Given the description of an element on the screen output the (x, y) to click on. 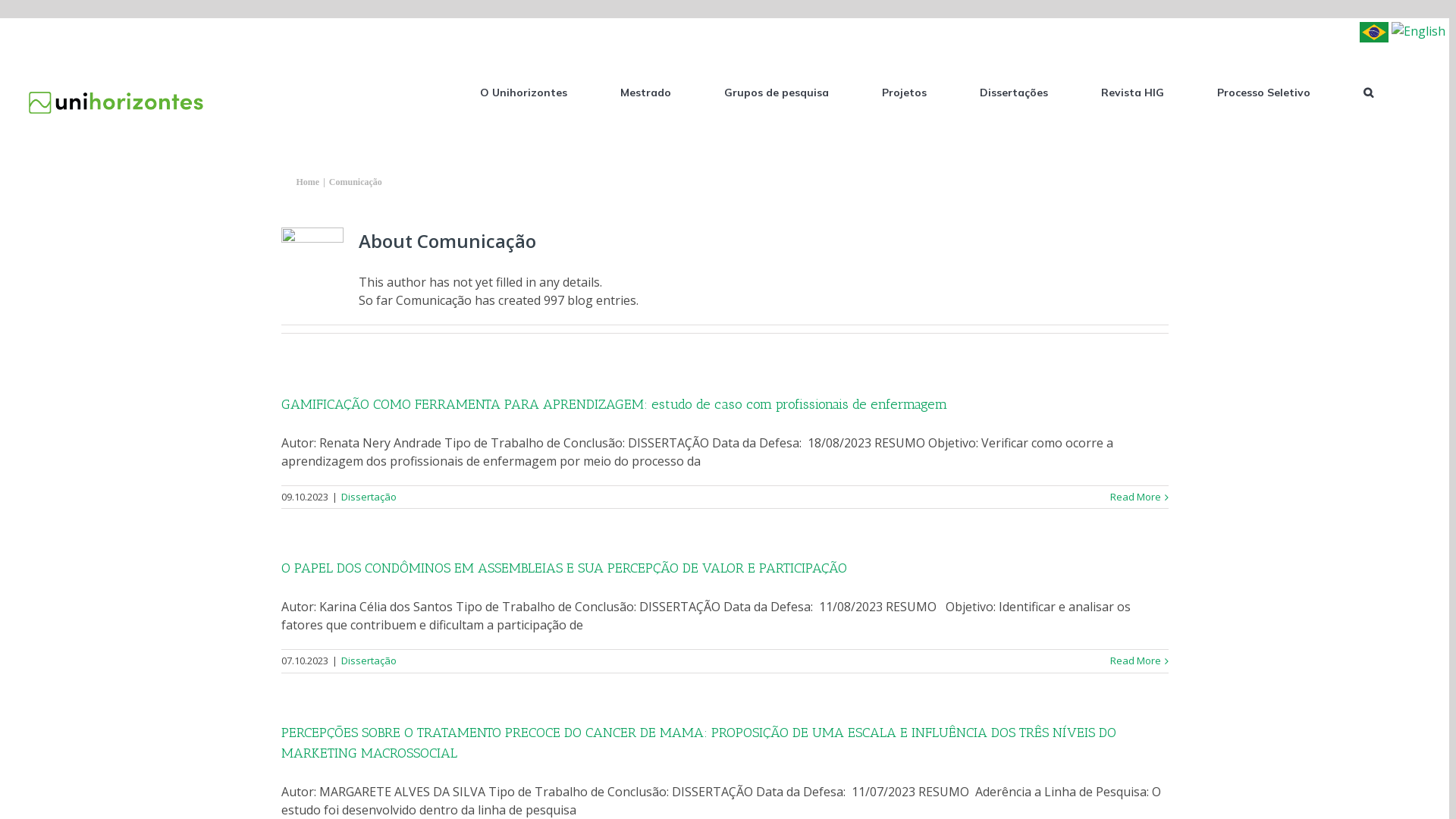
Mestrado Element type: text (645, 90)
Home Element type: text (307, 181)
Processo Seletivo Element type: text (1263, 90)
O Unihorizontes Element type: text (523, 90)
Projetos Element type: text (903, 90)
Grupos de pesquisa Element type: text (776, 90)
Search Element type: hover (1368, 90)
Revista HIG Element type: text (1132, 90)
Read More Element type: text (1135, 660)
Read More Element type: text (1135, 497)
